Given the description of an element on the screen output the (x, y) to click on. 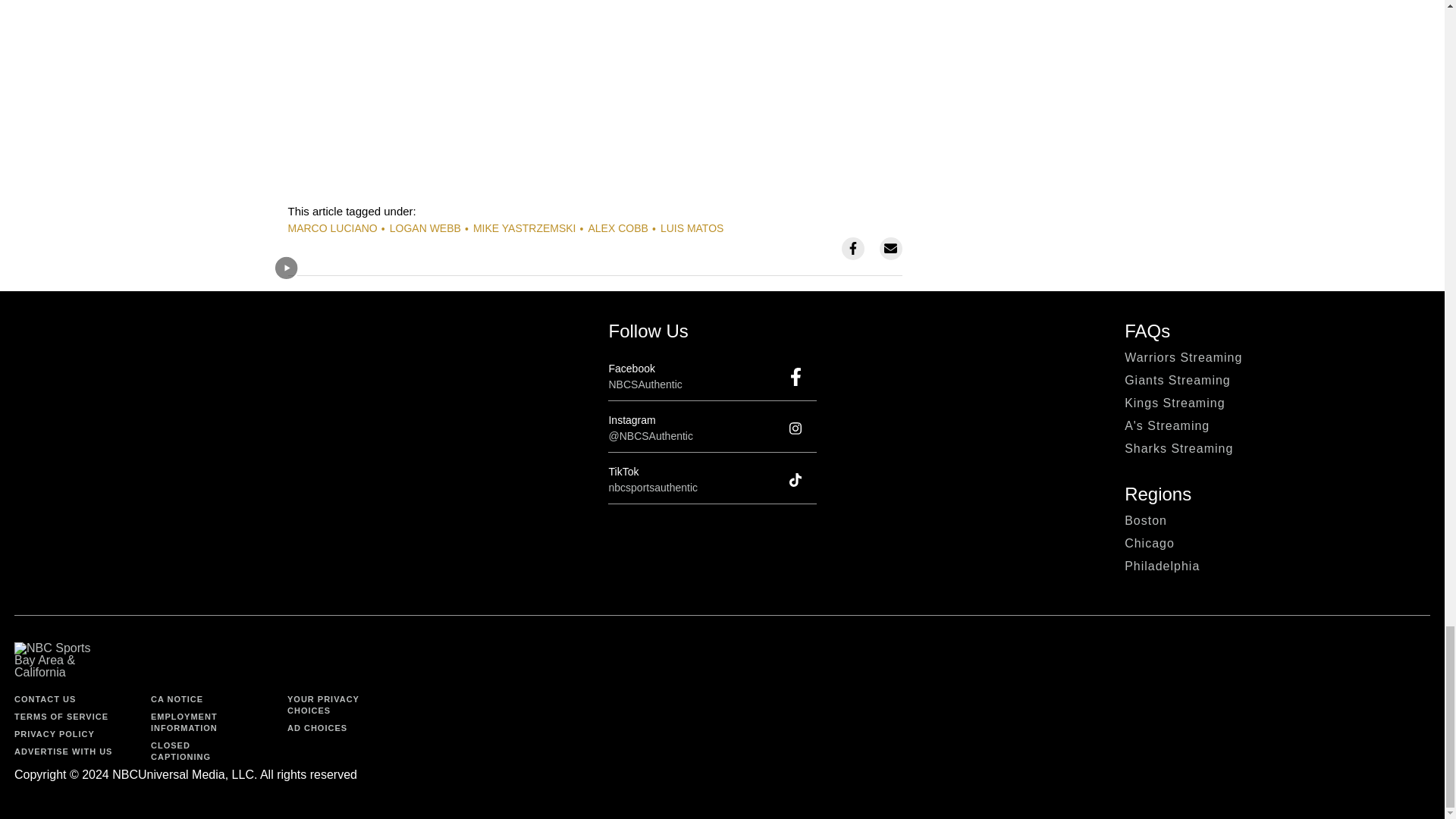
LOGAN WEBB (425, 227)
MIKE YASTRZEMSKI (524, 227)
MARCO LUCIANO (332, 227)
